Given the description of an element on the screen output the (x, y) to click on. 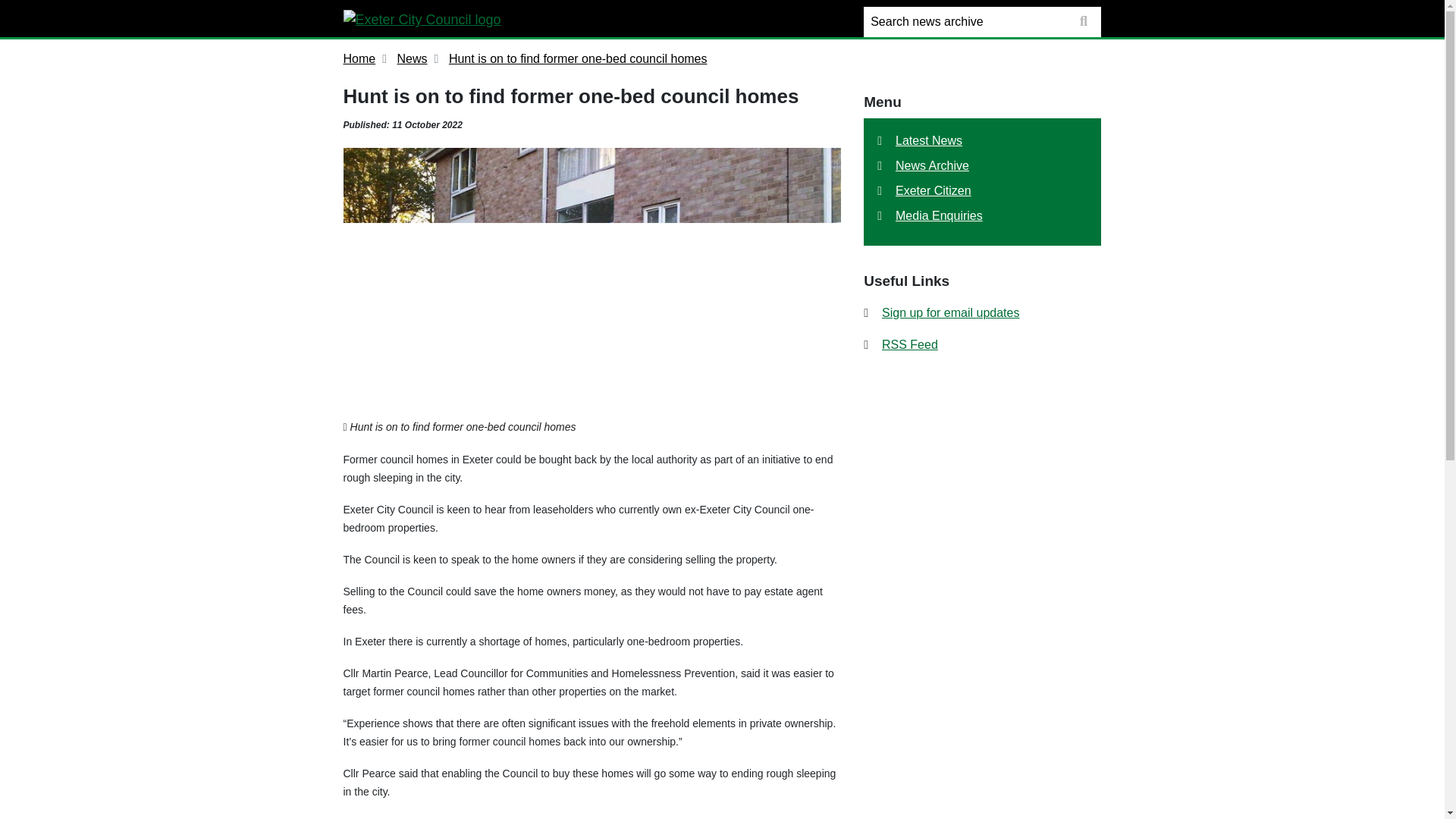
Latest News (935, 140)
Media Enquiries (945, 215)
Hunt is on to find former one-bed council homes (577, 57)
RSS Feed (902, 344)
Home (358, 57)
News (412, 57)
Exeter Citizen (940, 190)
Sign up for email updates (943, 312)
News Archive (938, 165)
